Given the description of an element on the screen output the (x, y) to click on. 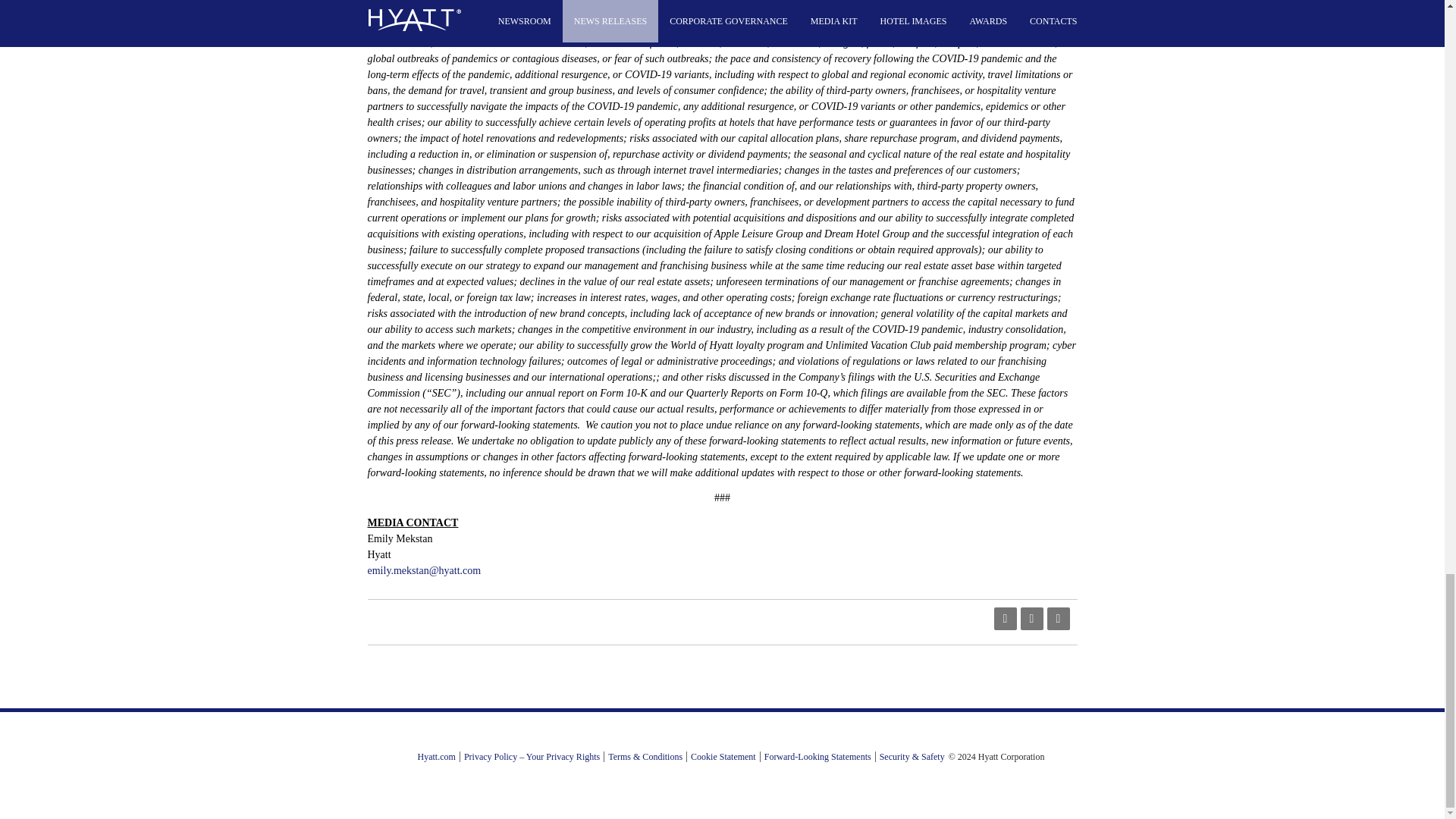
print (1057, 618)
rss (1004, 618)
email (1031, 618)
